Given the description of an element on the screen output the (x, y) to click on. 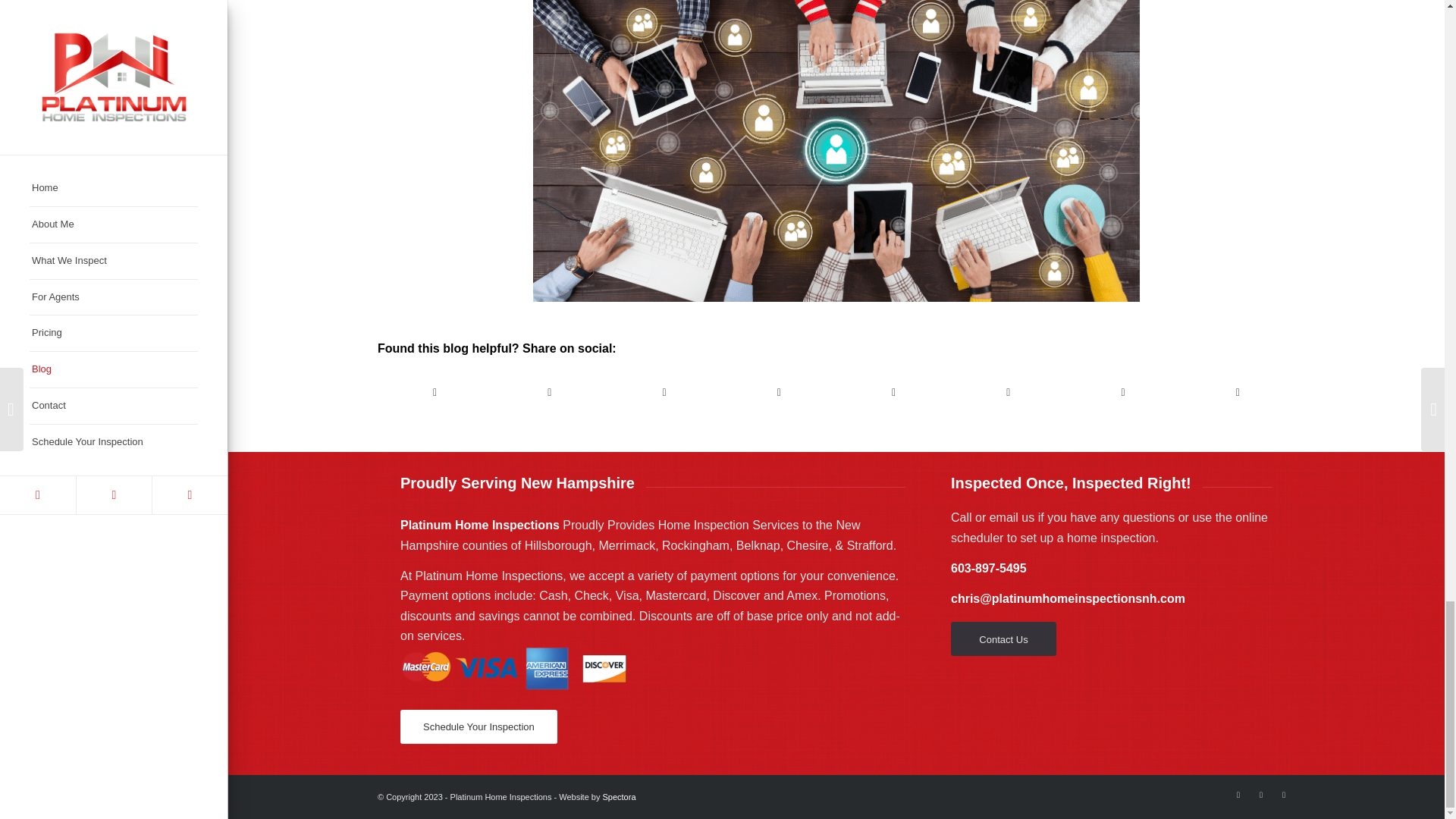
603-897-5495 (988, 567)
Schedule Your Inspection (478, 726)
Spectora (618, 796)
Contact Us (1003, 638)
